Given the description of an element on the screen output the (x, y) to click on. 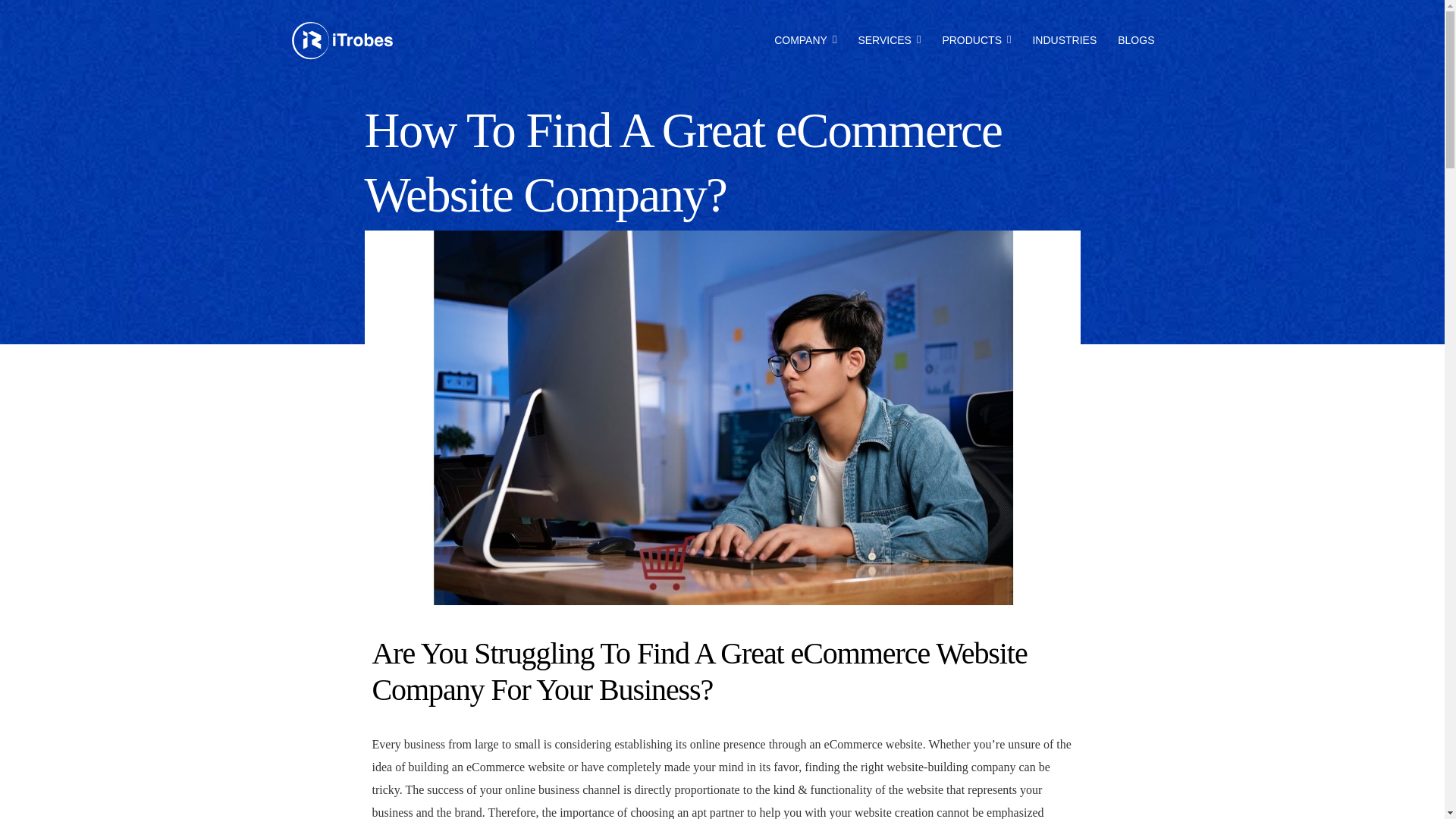
INDUSTRIES (1064, 39)
BLOGS (1136, 39)
SERVICES (888, 39)
COMPANY (804, 39)
PRODUCTS (976, 39)
